Given the description of an element on the screen output the (x, y) to click on. 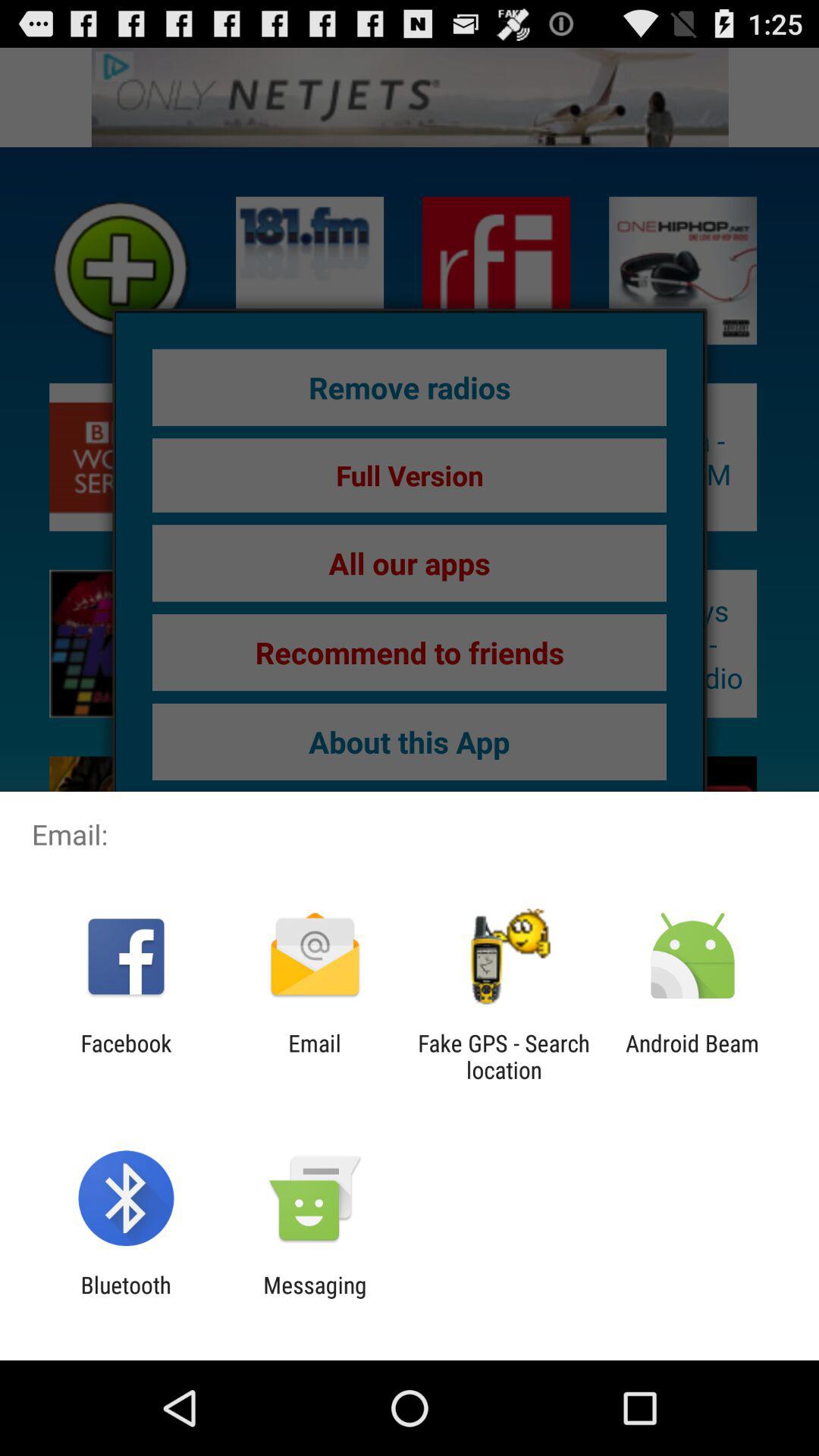
click icon to the left of android beam icon (503, 1056)
